Given the description of an element on the screen output the (x, y) to click on. 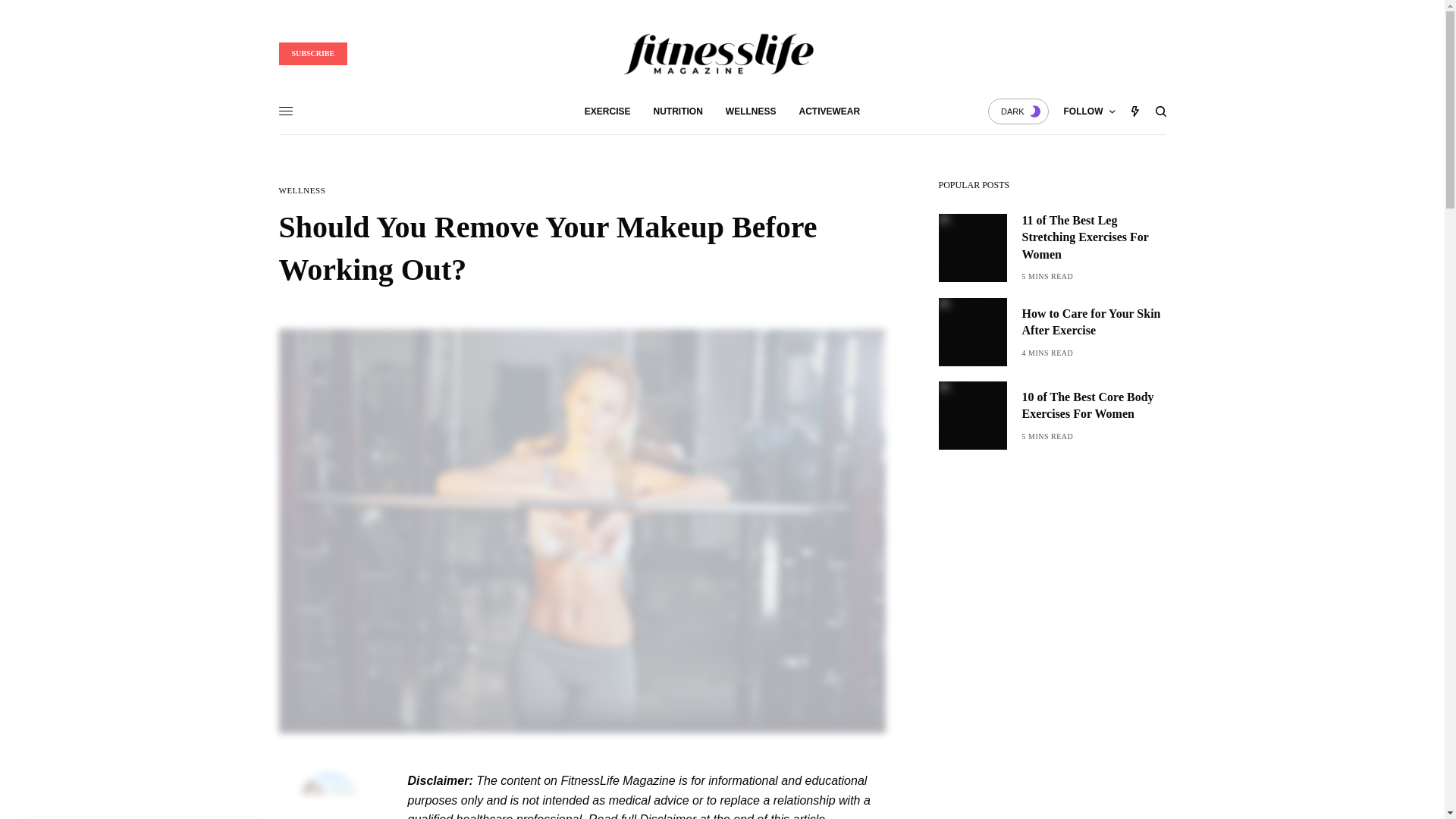
SUBSCRIBE (313, 53)
10 of The Best Core Body Exercises For Women (1094, 406)
FLM - Running Shoes 300x600 - FitnessLife Magazine (1052, 597)
WELLNESS (750, 111)
FOLLOW (1089, 111)
FitnessLife Magazine (721, 53)
11 of The Best Leg Stretching Exercises For Women (1094, 237)
EXERCISE (607, 111)
How to Care for Your Skin After Exercise (1094, 322)
WELLNESS (302, 190)
NUTRITION (678, 111)
